Given the description of an element on the screen output the (x, y) to click on. 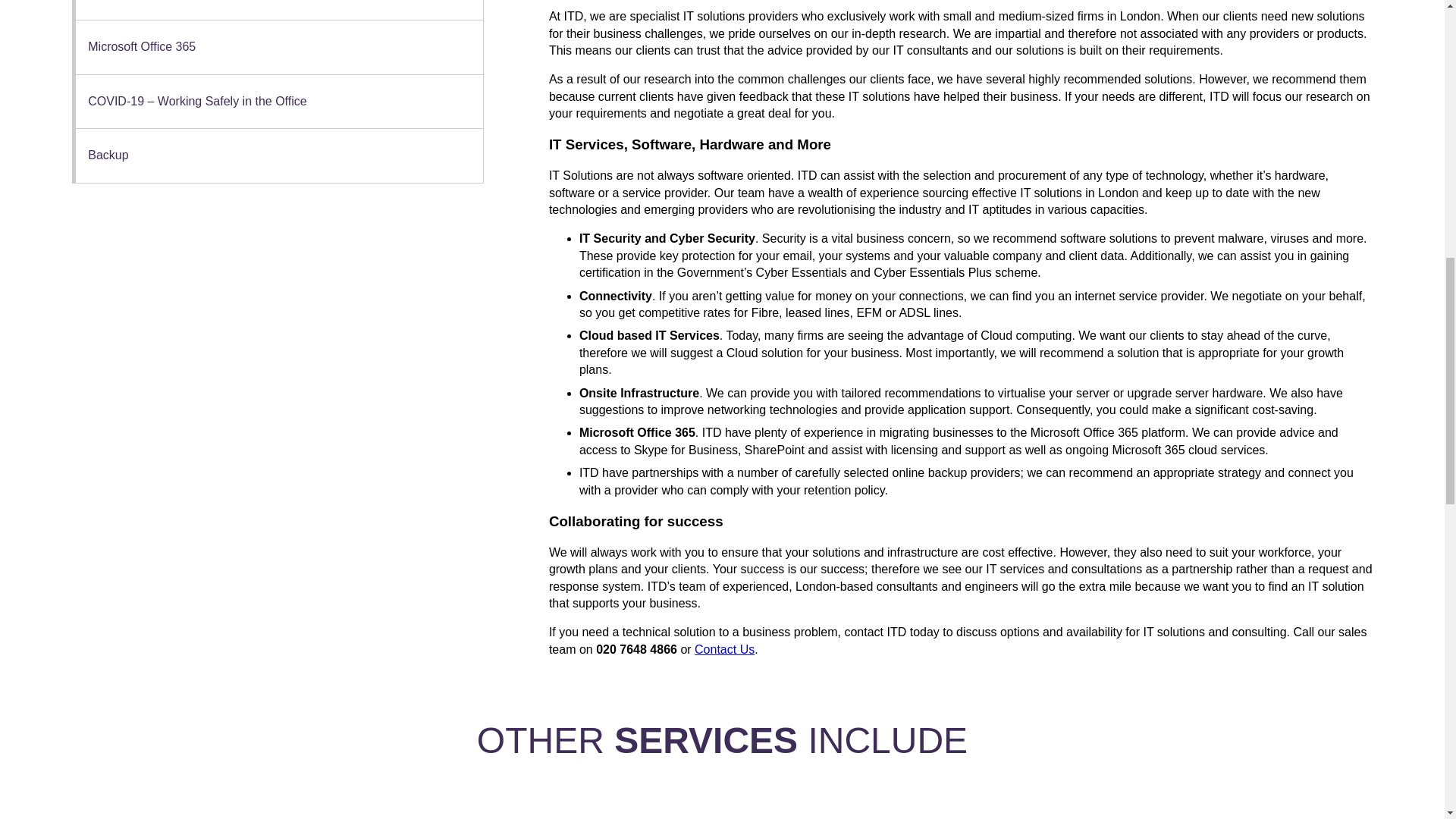
Microsoft Office 365 (279, 46)
Contact Us (724, 649)
Home Network Security (279, 9)
Backup (279, 154)
